Given the description of an element on the screen output the (x, y) to click on. 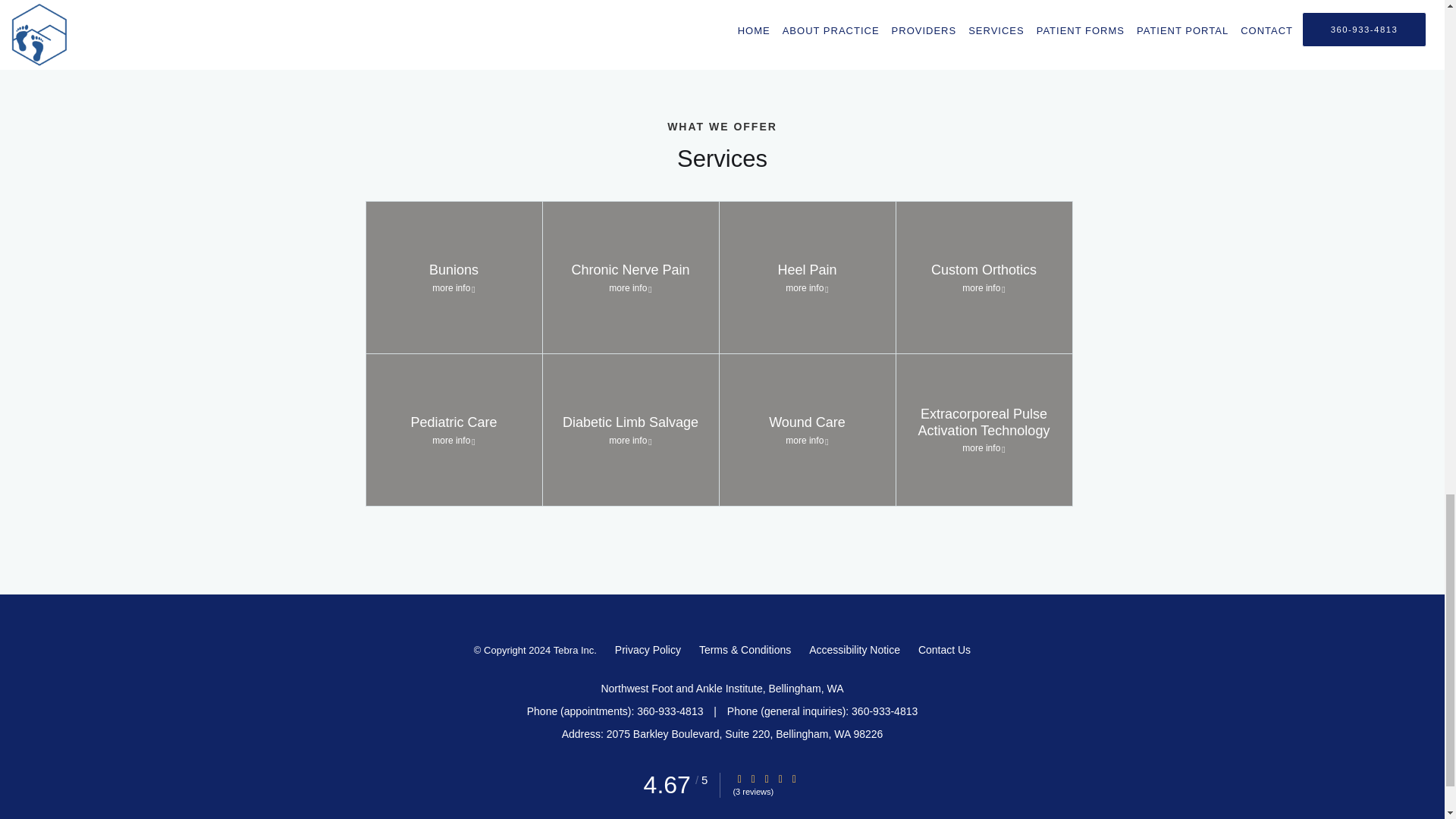
Star Rating (794, 778)
Star Rating (766, 778)
Star Rating (780, 778)
Star Rating (738, 778)
Star Rating (753, 778)
